Given the description of an element on the screen output the (x, y) to click on. 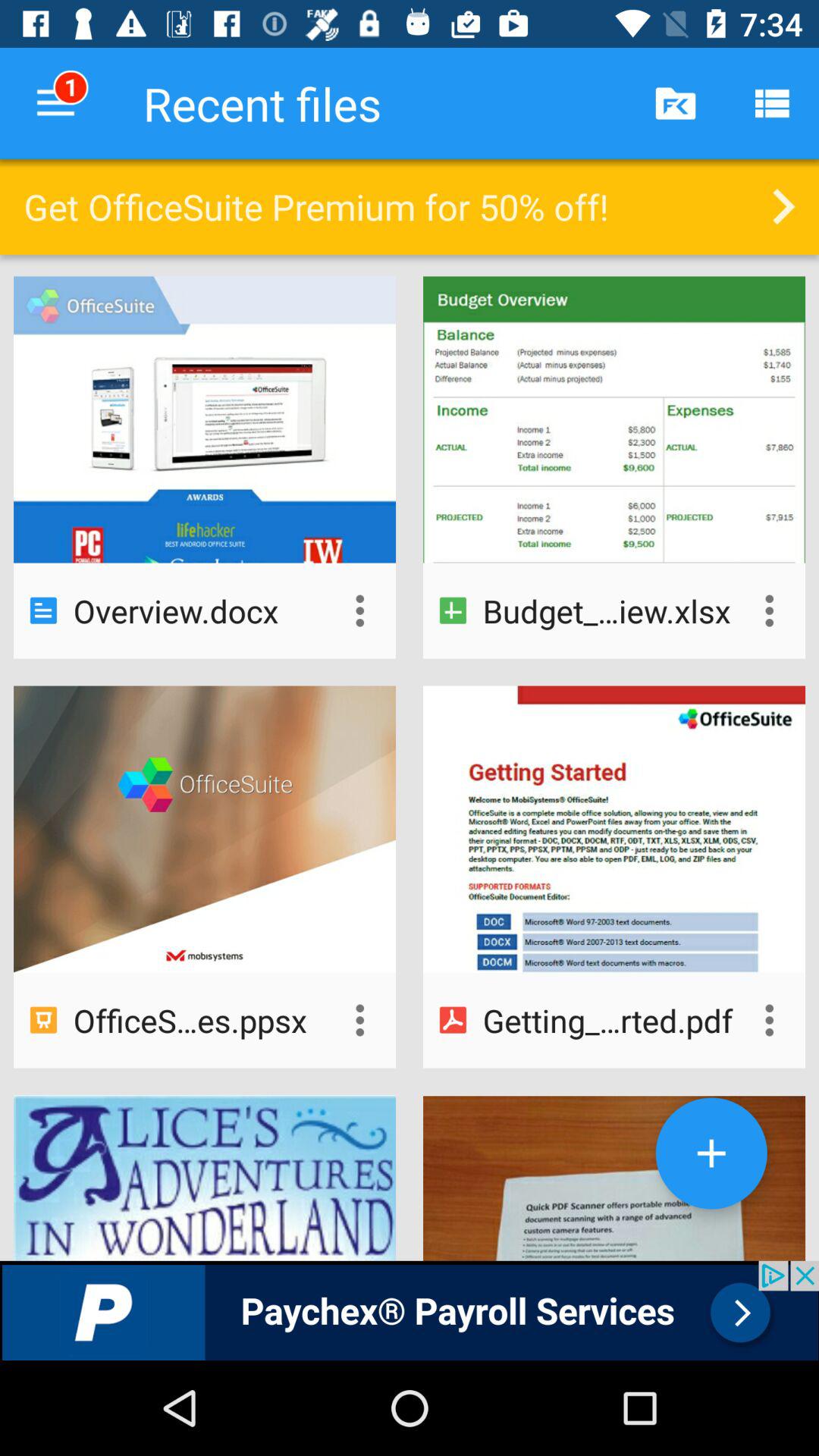
individual document settings (769, 610)
